Given the description of an element on the screen output the (x, y) to click on. 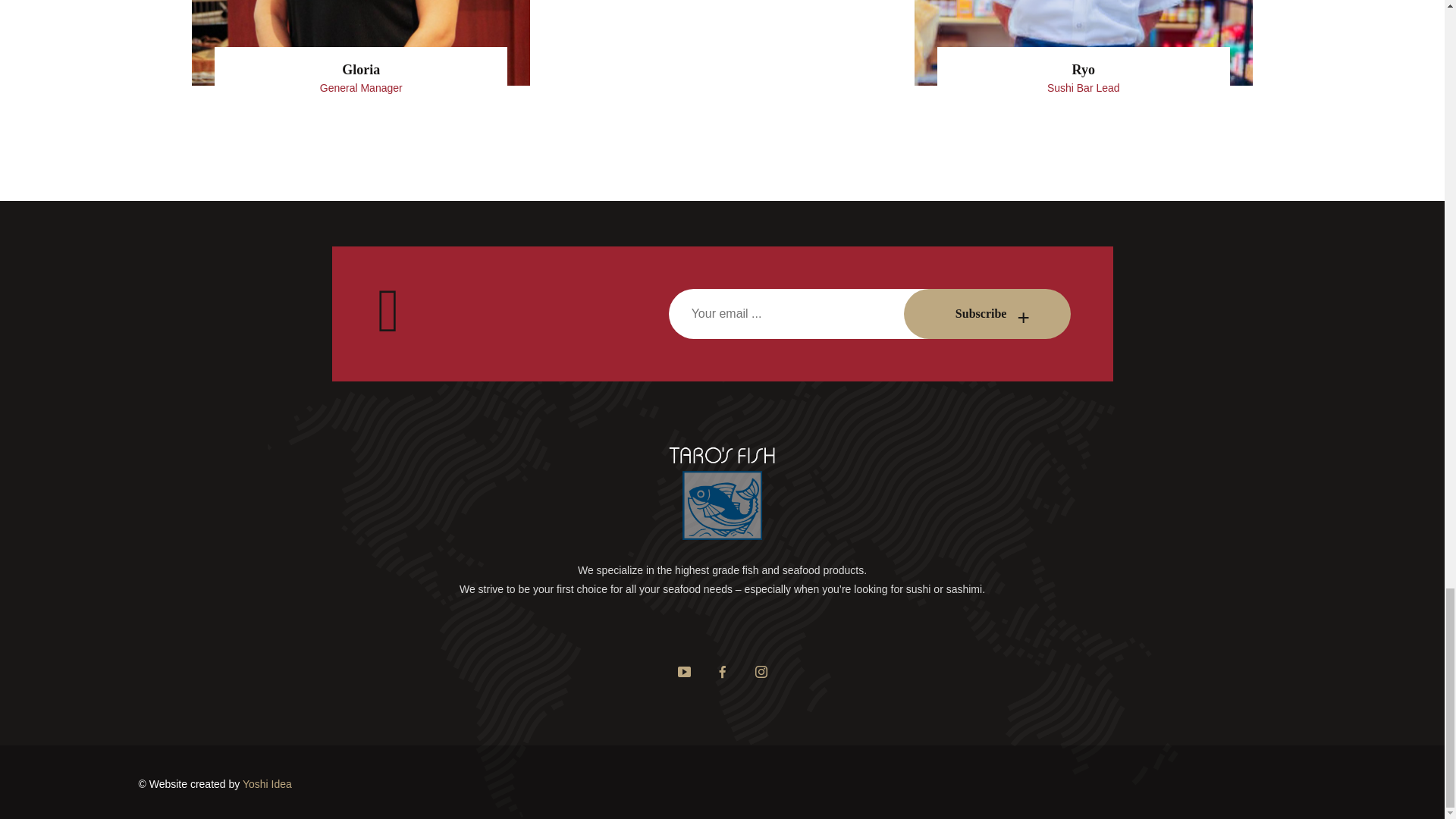
Gloria (360, 70)
Yoshi Idea (267, 784)
Ryo (1083, 70)
Subscribe (987, 314)
